Given the description of an element on the screen output the (x, y) to click on. 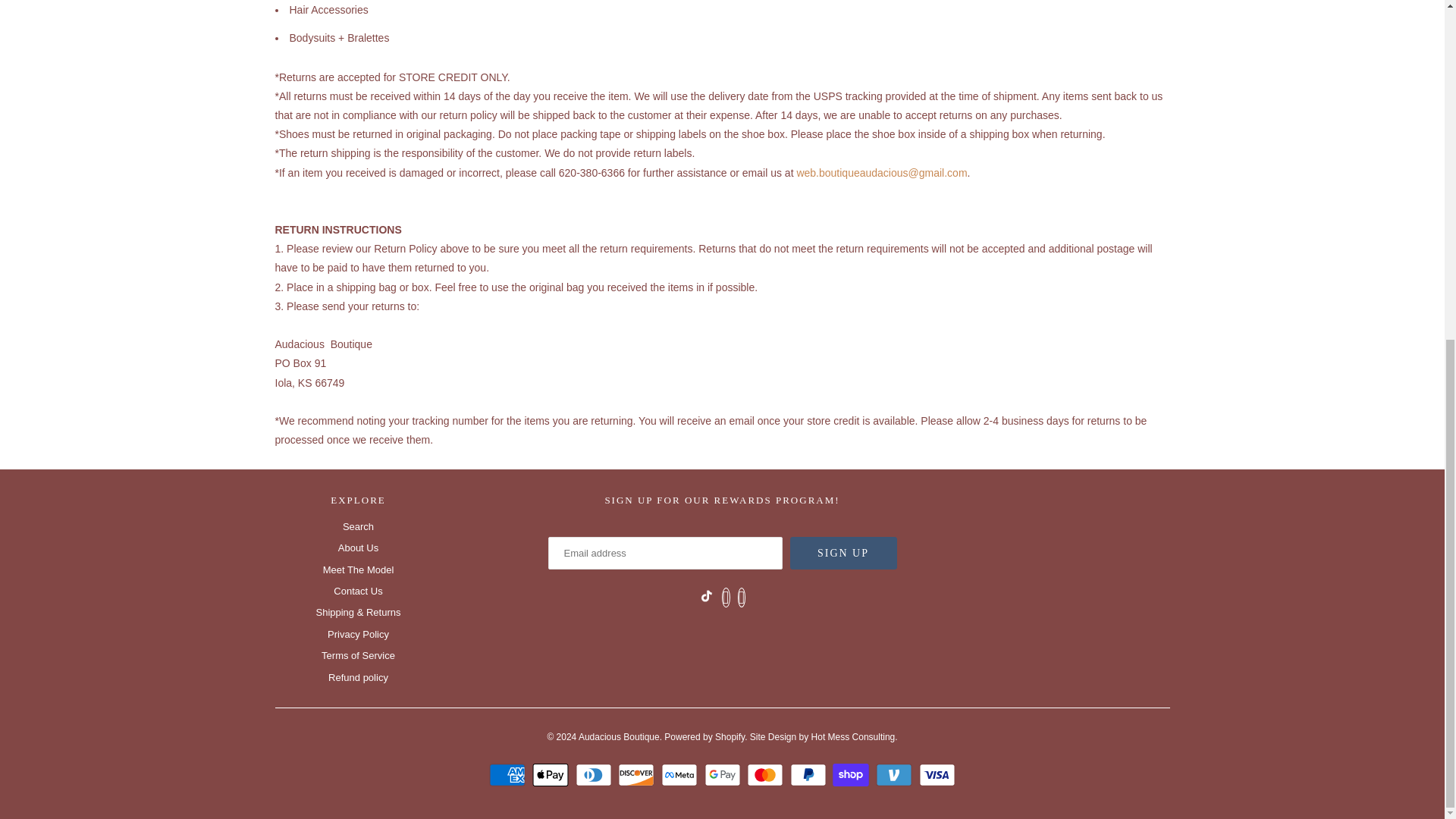
Google Pay (723, 774)
Sign Up (843, 553)
Refund policy (358, 677)
Contact Us (357, 591)
Discover (637, 774)
Diners Club (595, 774)
Meet The Model (358, 569)
Mastercard (766, 774)
About Us (357, 547)
Apple Pay (552, 774)
Venmo (895, 774)
Privacy Policy (357, 633)
Search (358, 526)
PayPal (809, 774)
Meta Pay (681, 774)
